Given the description of an element on the screen output the (x, y) to click on. 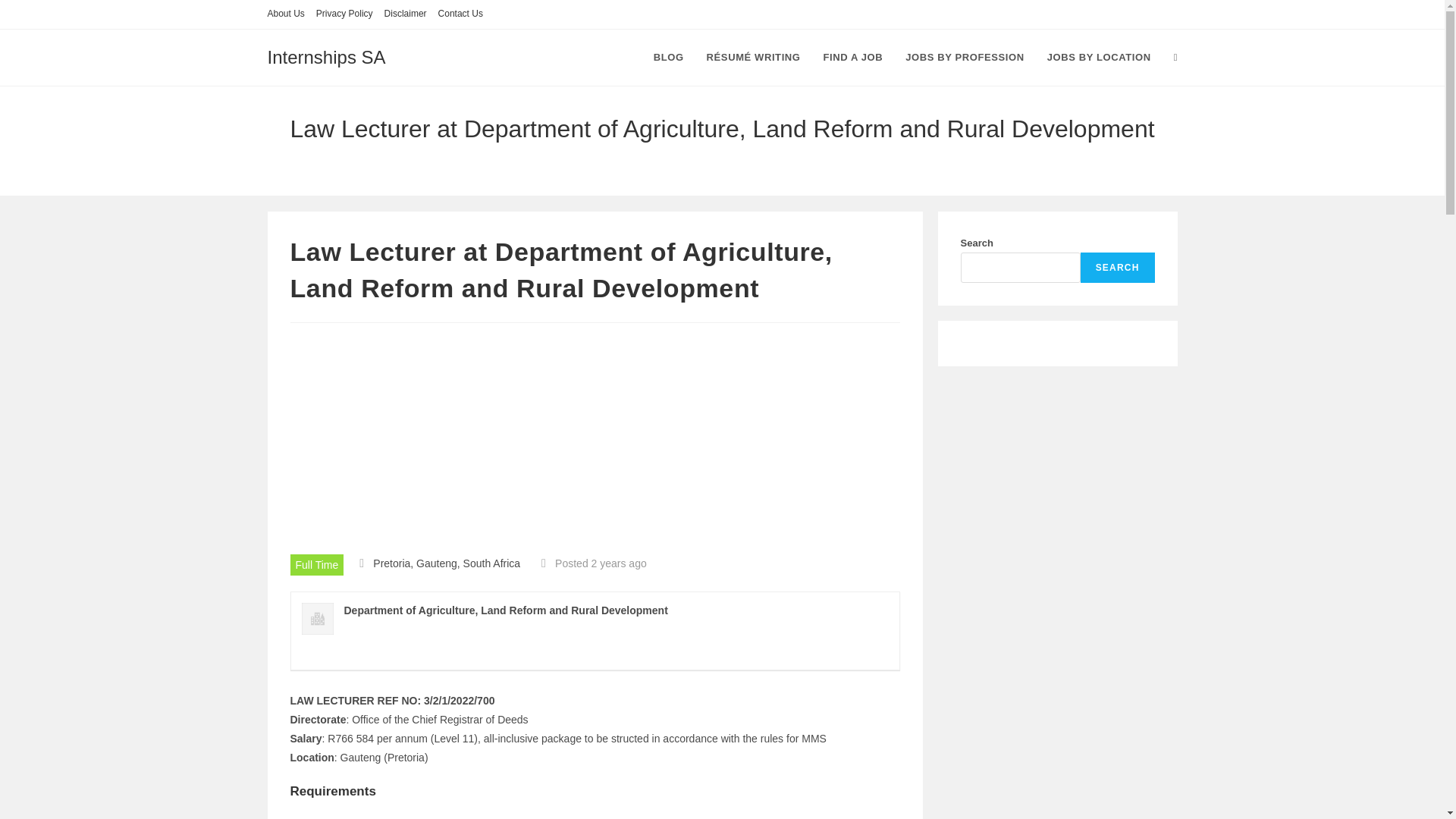
JOBS BY PROFESSION (964, 57)
About Us (285, 13)
FIND A JOB (853, 57)
Privacy Policy (343, 13)
Internships SA (325, 56)
Disclaimer (405, 13)
Contact Us (460, 13)
BLOG (668, 57)
